Given the description of an element on the screen output the (x, y) to click on. 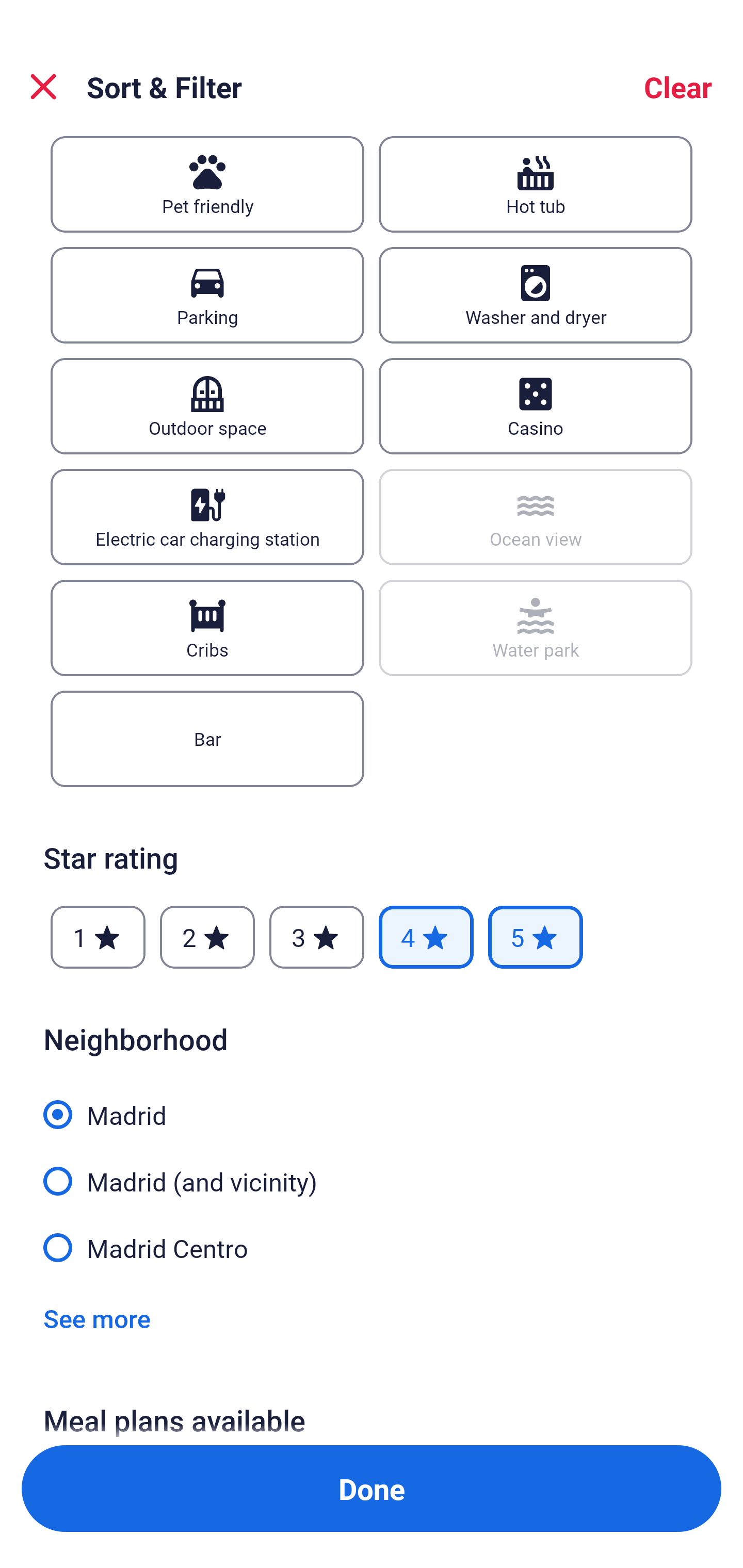
Close Sort and Filter (43, 86)
Clear (677, 86)
Pet friendly (207, 184)
Hot tub (535, 184)
Parking (207, 295)
Washer and dryer (535, 295)
Outdoor space (207, 405)
Casino (535, 405)
Electric car charging station (207, 517)
Ocean view (535, 517)
Cribs (207, 627)
Water park (535, 627)
Bar (207, 738)
1 (97, 936)
2 (206, 936)
3 (316, 936)
4 (426, 936)
5 (535, 936)
Madrid (and vicinity) (371, 1169)
Madrid Centro (371, 1246)
See more See more neighborhoods Link (96, 1317)
Apply and close Sort and Filter Done (371, 1488)
